Given the description of an element on the screen output the (x, y) to click on. 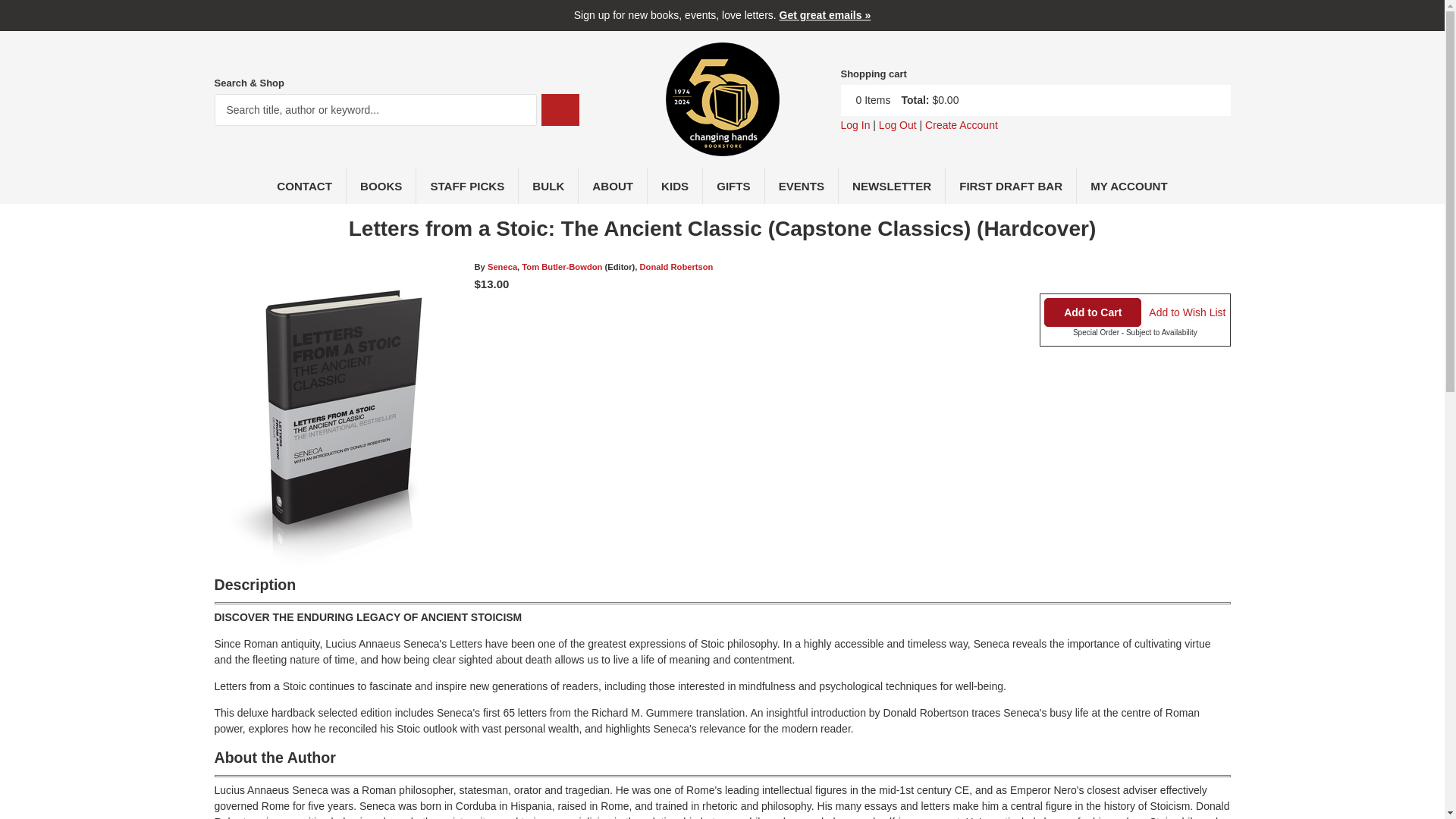
Home page (721, 147)
CONTACT (304, 185)
Add to Cart (1092, 312)
Log In (854, 124)
STAFF PICKS (467, 185)
BOOKS (381, 185)
Search (560, 110)
Log Out (898, 124)
ABOUT (612, 185)
Search title, author or keyword... (374, 110)
